Given the description of an element on the screen output the (x, y) to click on. 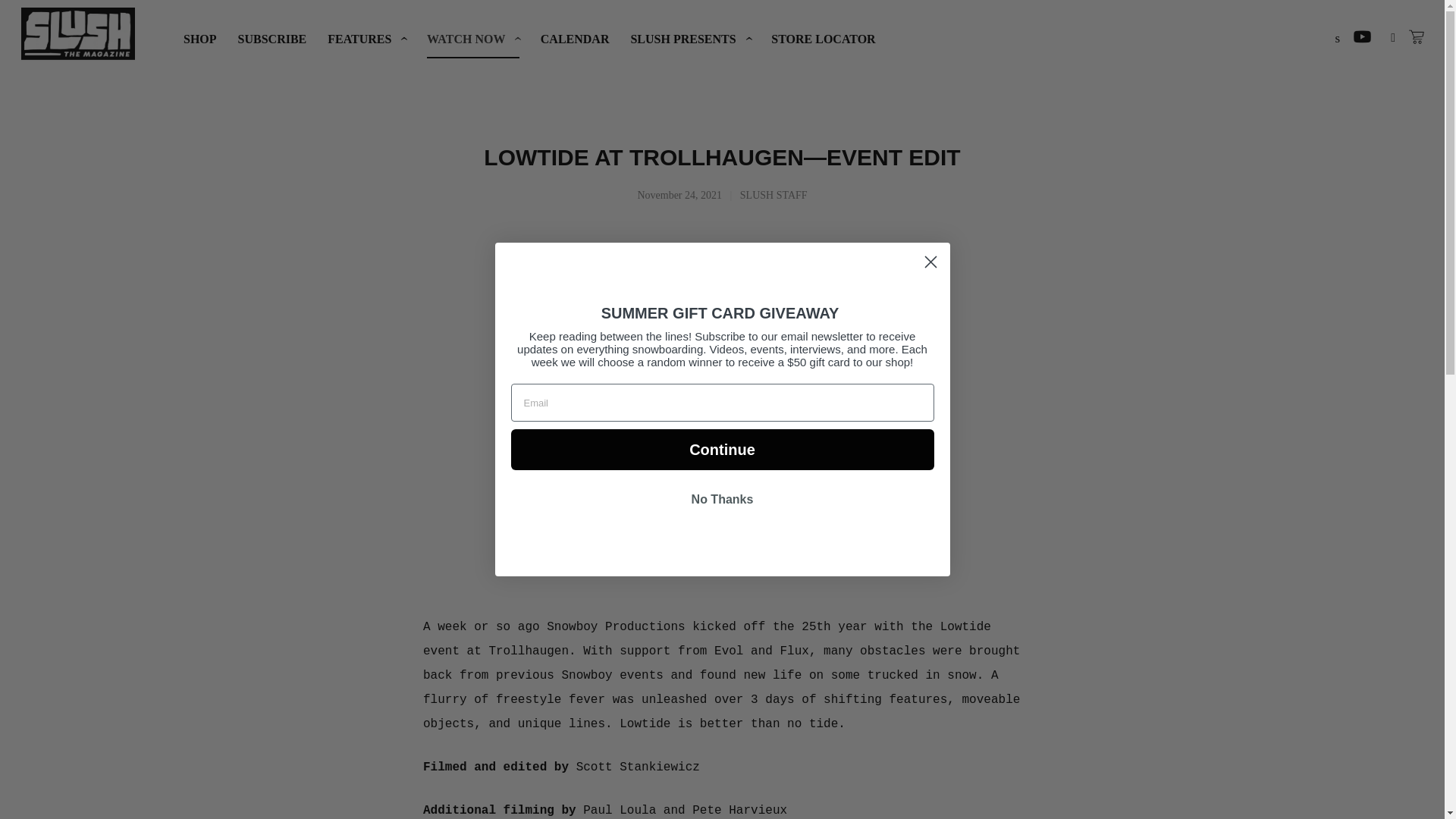
CALENDAR (575, 38)
SUBSCRIBE (272, 38)
SHOP (199, 38)
